Given the description of an element on the screen output the (x, y) to click on. 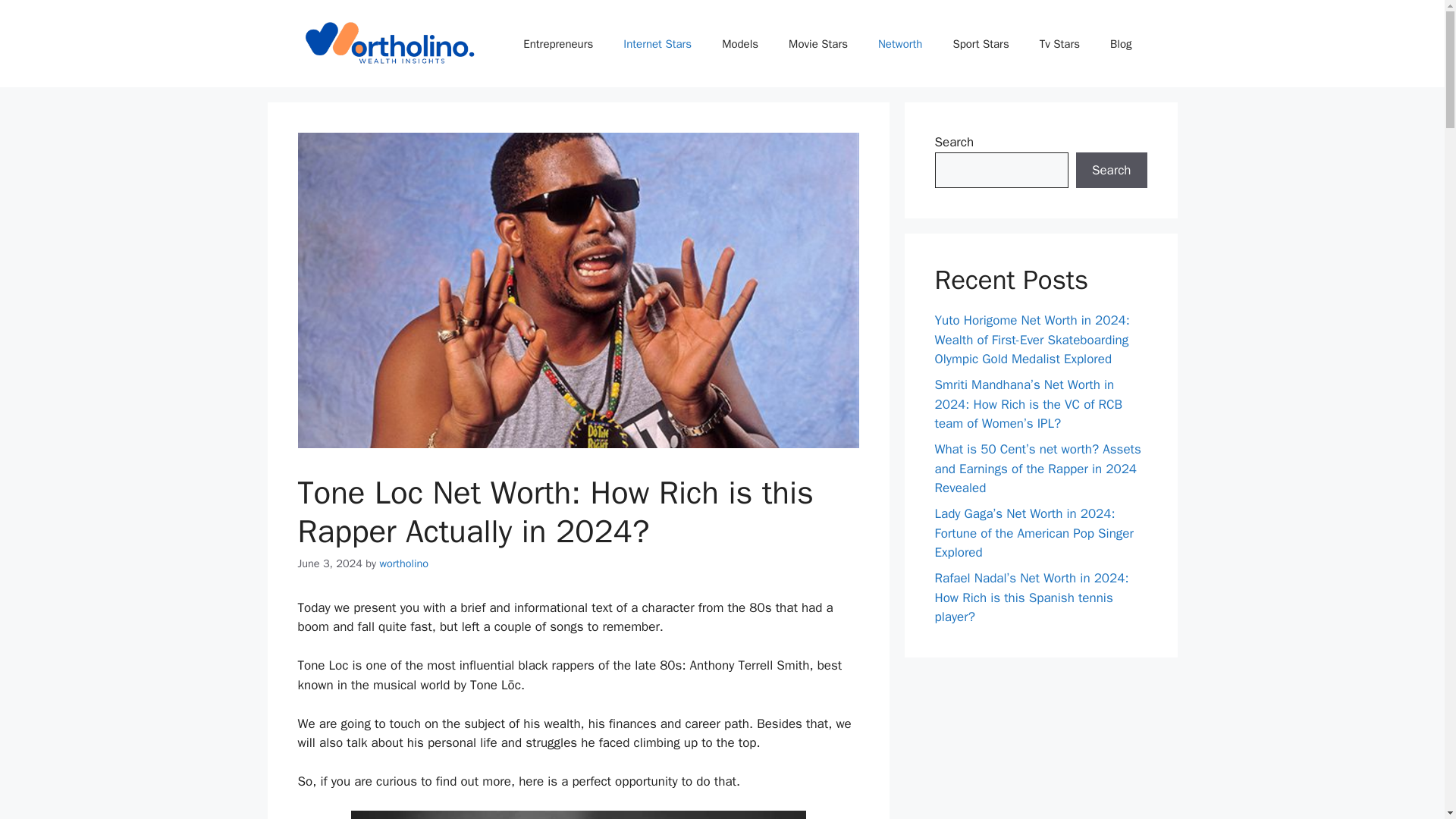
View all posts by wortholino (403, 563)
wortholino (403, 563)
Search (1111, 169)
Models (739, 43)
Networth (900, 43)
Tv Stars (1059, 43)
Sport Stars (980, 43)
Entrepreneurs (558, 43)
Blog (1120, 43)
Internet Stars (657, 43)
Movie Stars (818, 43)
